Given the description of an element on the screen output the (x, y) to click on. 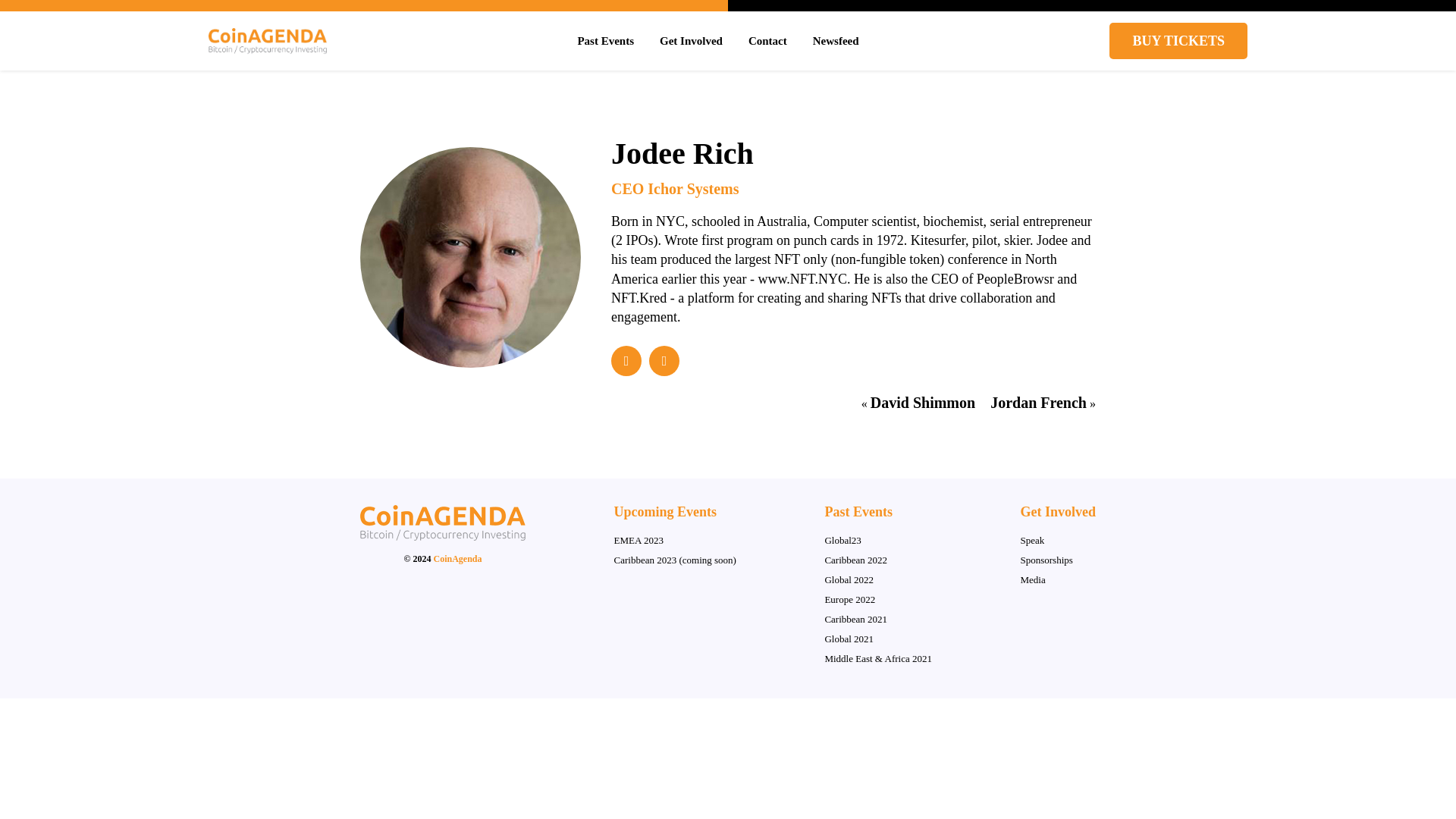
Global23 (842, 540)
Contact (767, 41)
David Shimmon (930, 402)
Caribbean 2022 (855, 559)
EMEA 2023 (638, 540)
Global 2022 (848, 579)
Europe 2022 (849, 599)
Global 2021 (848, 638)
Past Events (604, 41)
Get Involved (690, 41)
